Given the description of an element on the screen output the (x, y) to click on. 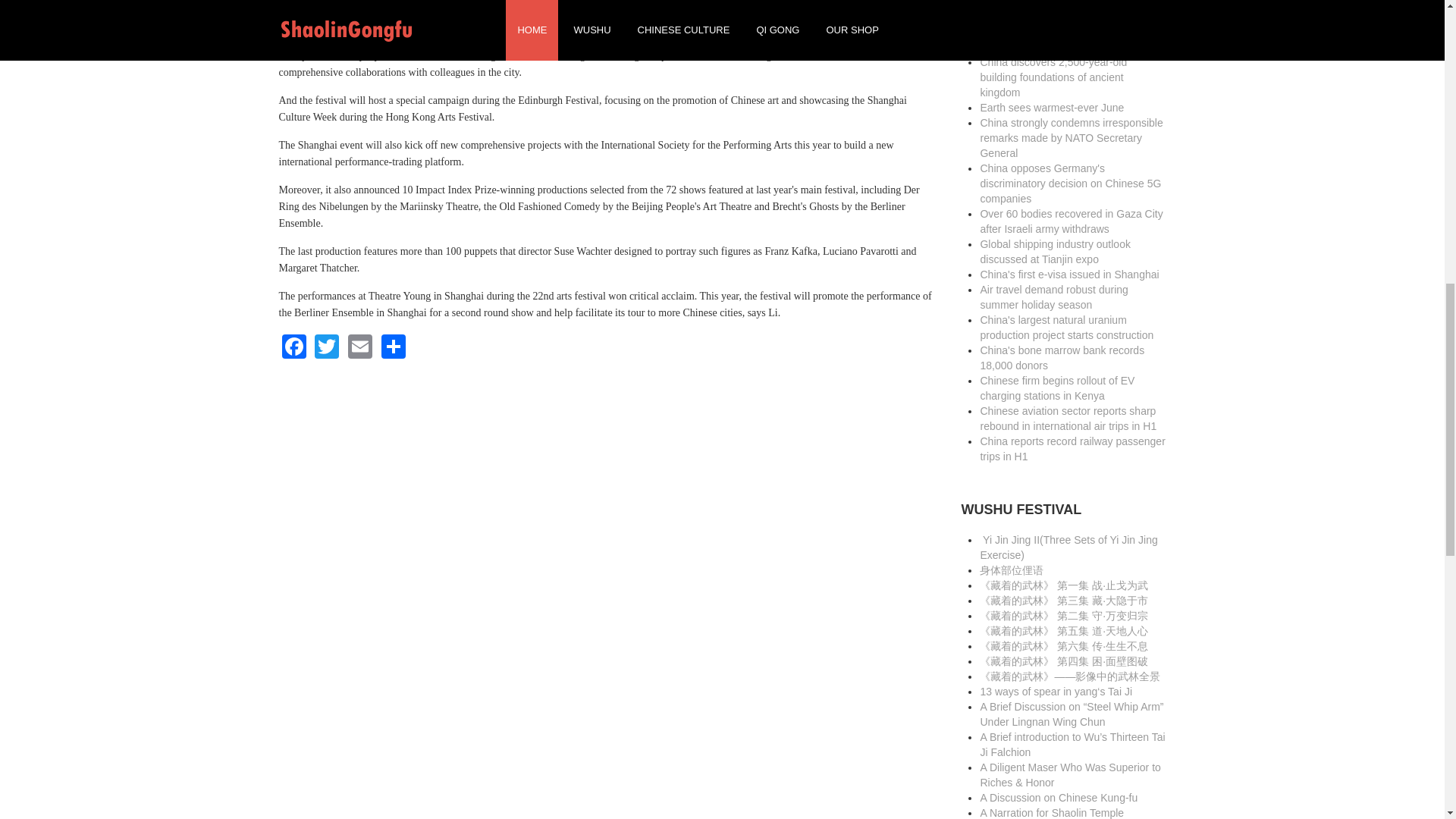
Email (360, 345)
Twitter (326, 345)
Facebook (293, 345)
Share (393, 345)
